Given the description of an element on the screen output the (x, y) to click on. 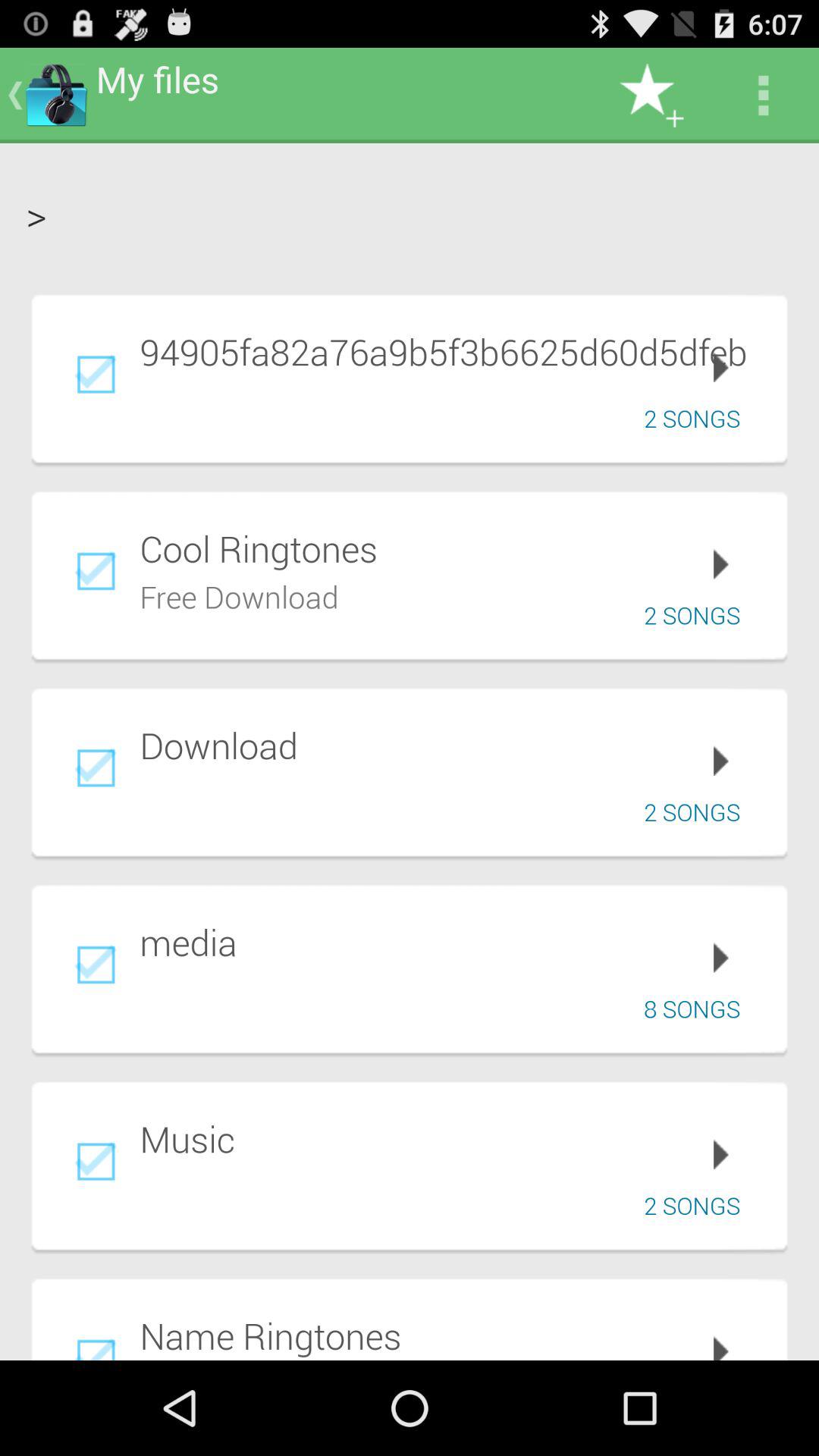
click app below the 2 songs item (452, 941)
